Given the description of an element on the screen output the (x, y) to click on. 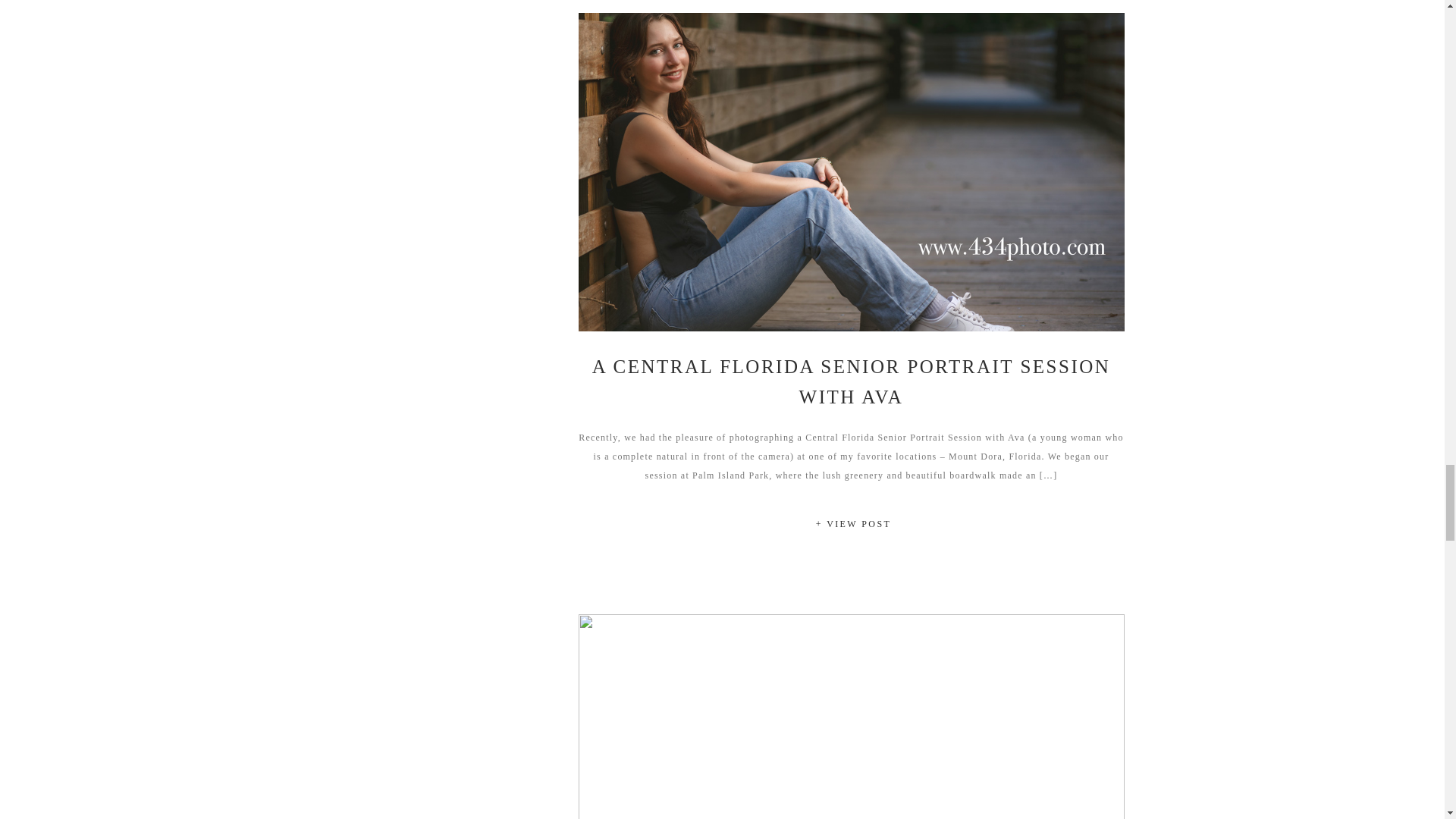
A CENTRAL FLORIDA SENIOR PORTRAIT SESSION WITH AVA (851, 381)
A Central Florida Senior Portrait Session with Ava (852, 525)
